Given the description of an element on the screen output the (x, y) to click on. 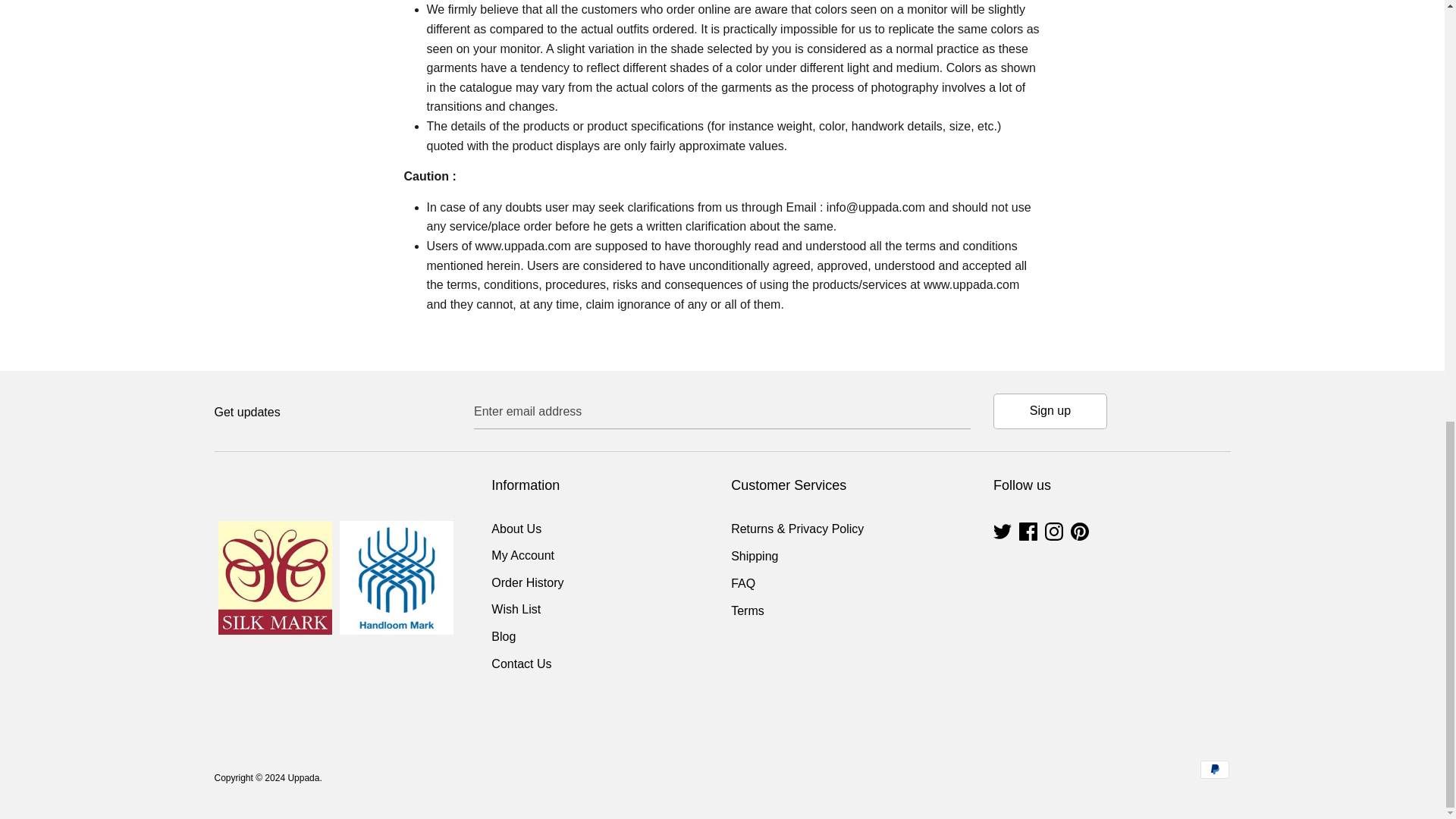
PayPal (1213, 769)
